Given the description of an element on the screen output the (x, y) to click on. 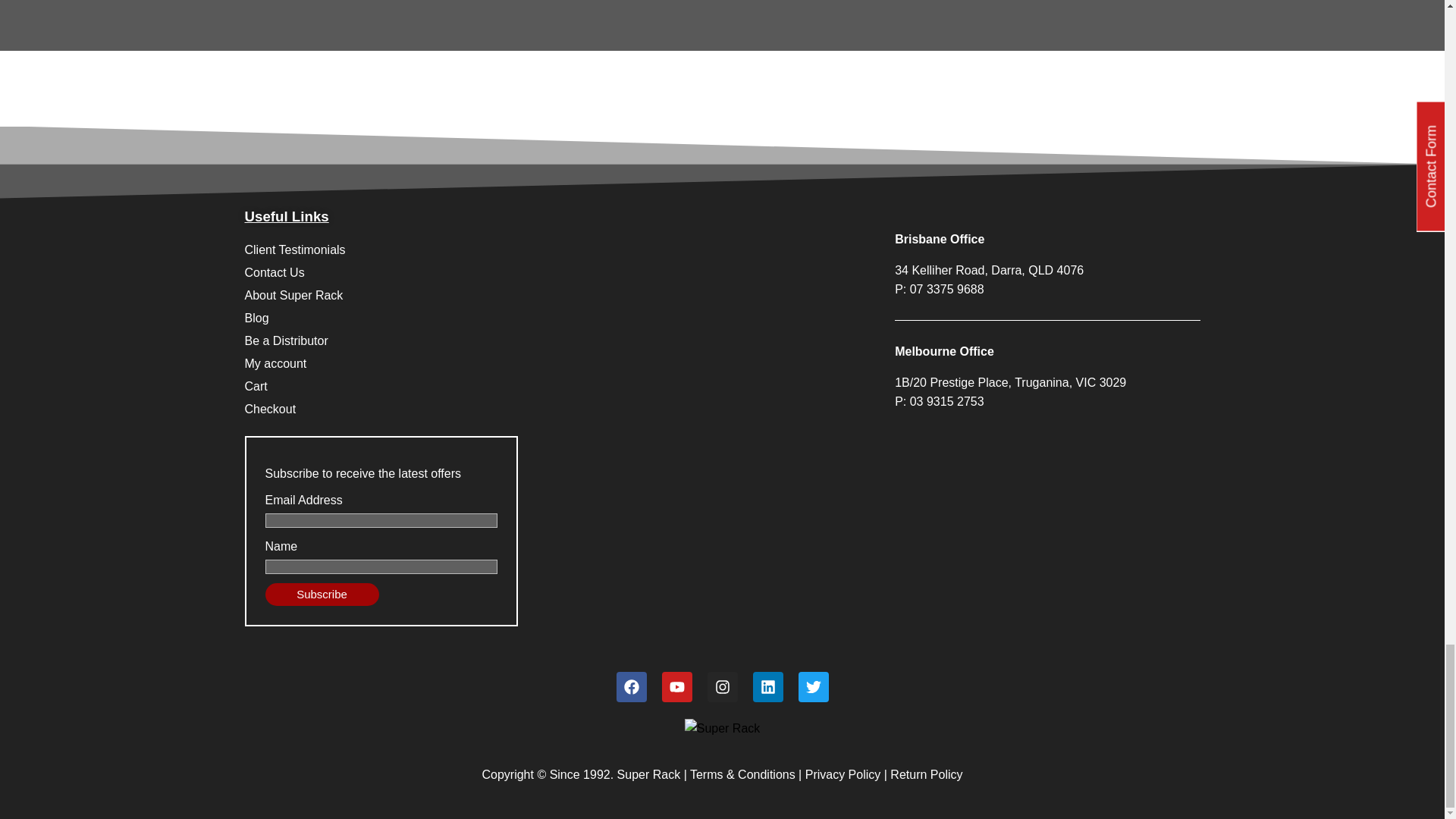
Contact Us (554, 272)
Blog (554, 318)
Subscribe (321, 594)
Client Testimonials (554, 250)
Be a Distributor (554, 341)
About Super Rack (554, 295)
